Given the description of an element on the screen output the (x, y) to click on. 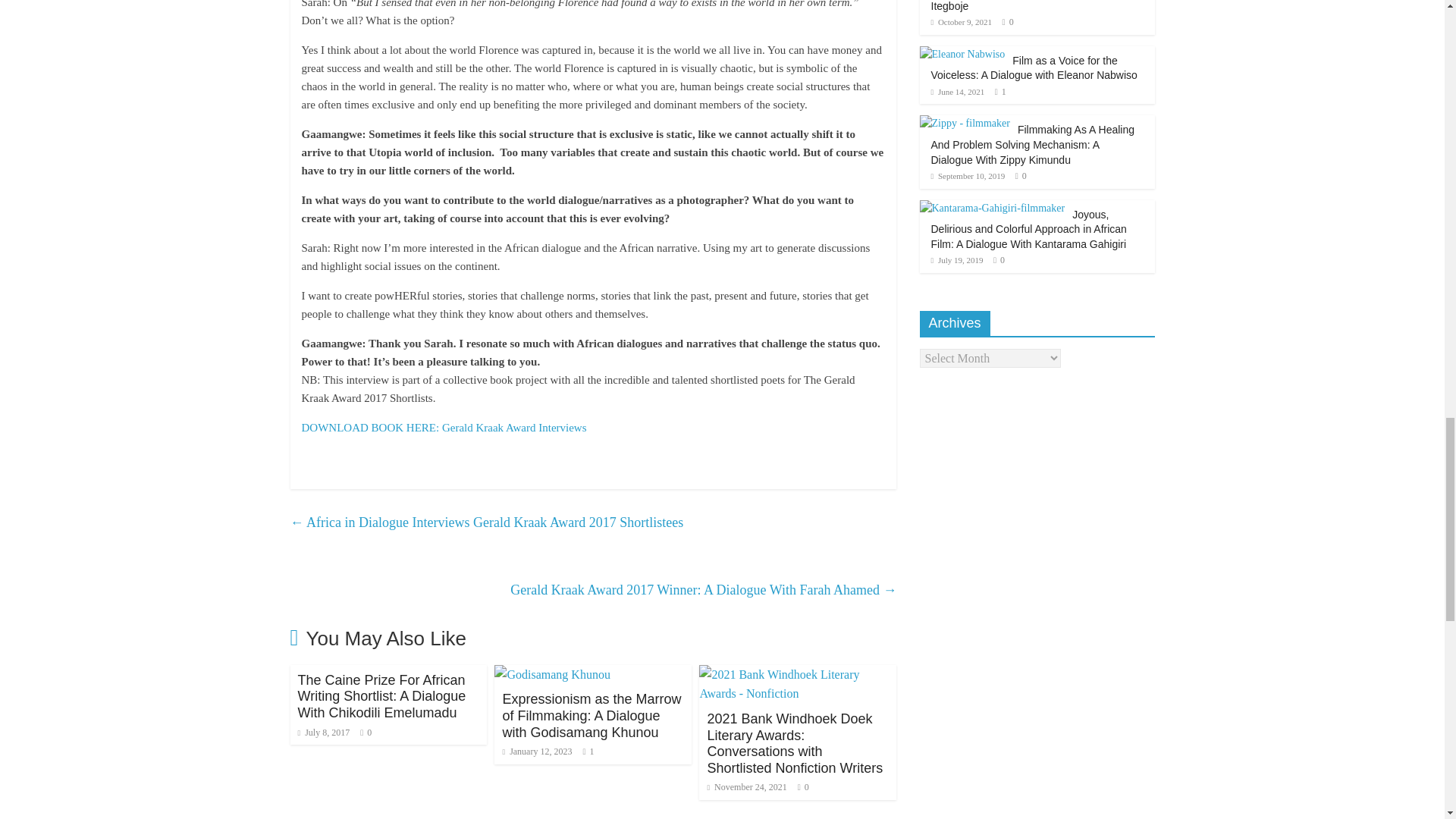
Gerald Kraak Award Interviews (443, 427)
